Given the description of an element on the screen output the (x, y) to click on. 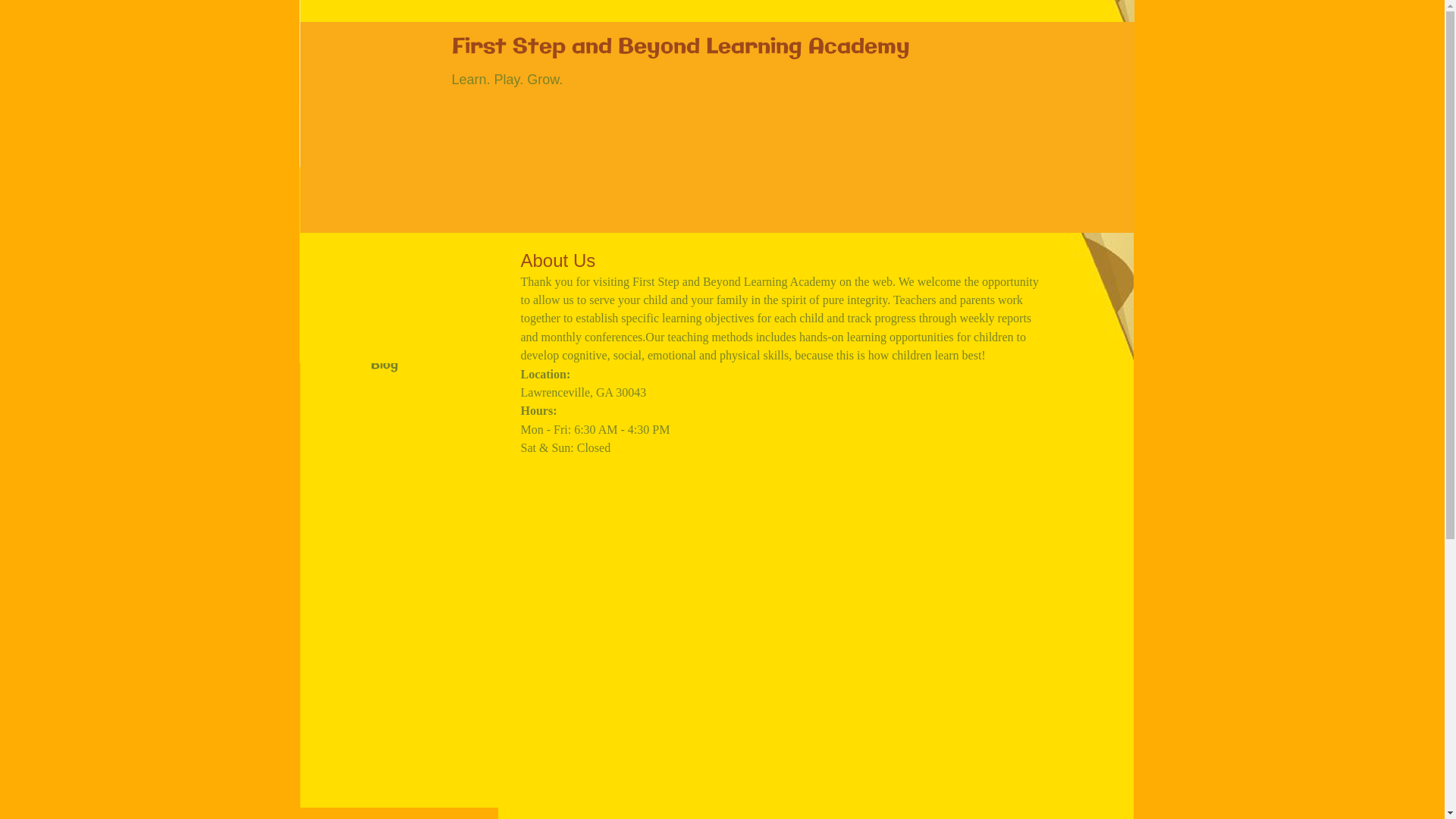
About Us Element type: text (398, 306)
Contact Us Element type: text (405, 335)
Home Element type: text (387, 276)
Blog Element type: text (383, 365)
Google Maps Element type: hover (780, 616)
